Given the description of an element on the screen output the (x, y) to click on. 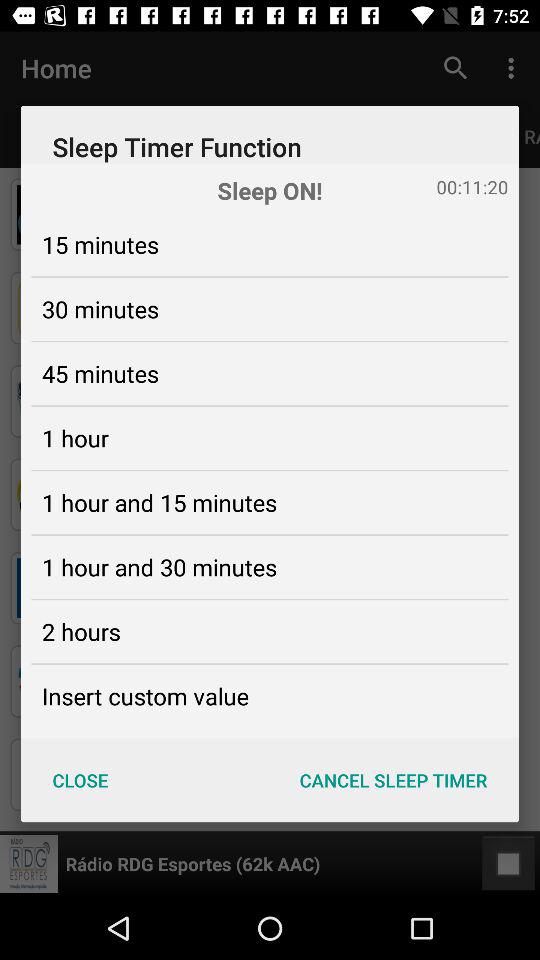
turn off the icon below the 30 minutes (100, 373)
